Given the description of an element on the screen output the (x, y) to click on. 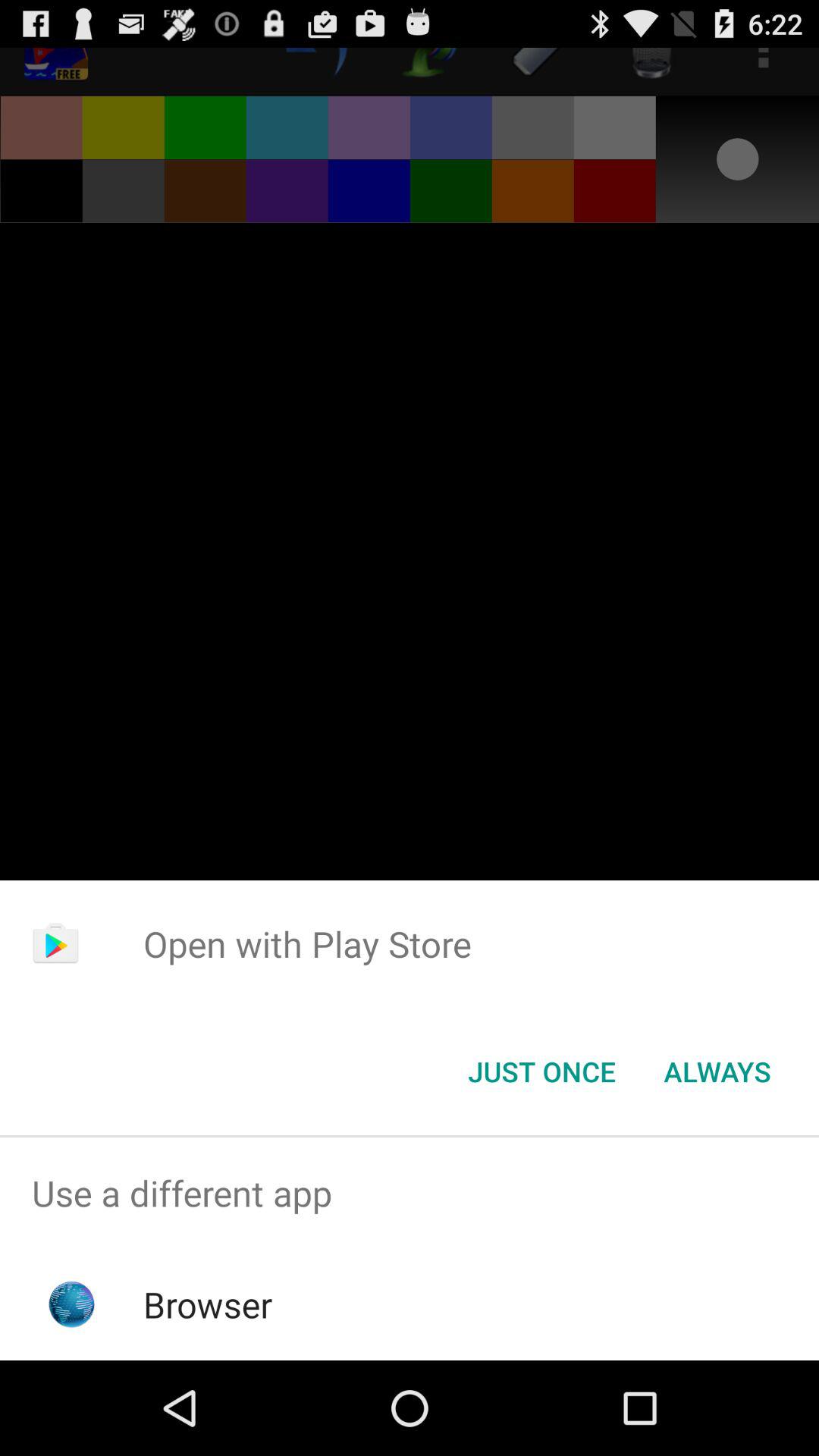
choose icon next to just once item (717, 1071)
